Given the description of an element on the screen output the (x, y) to click on. 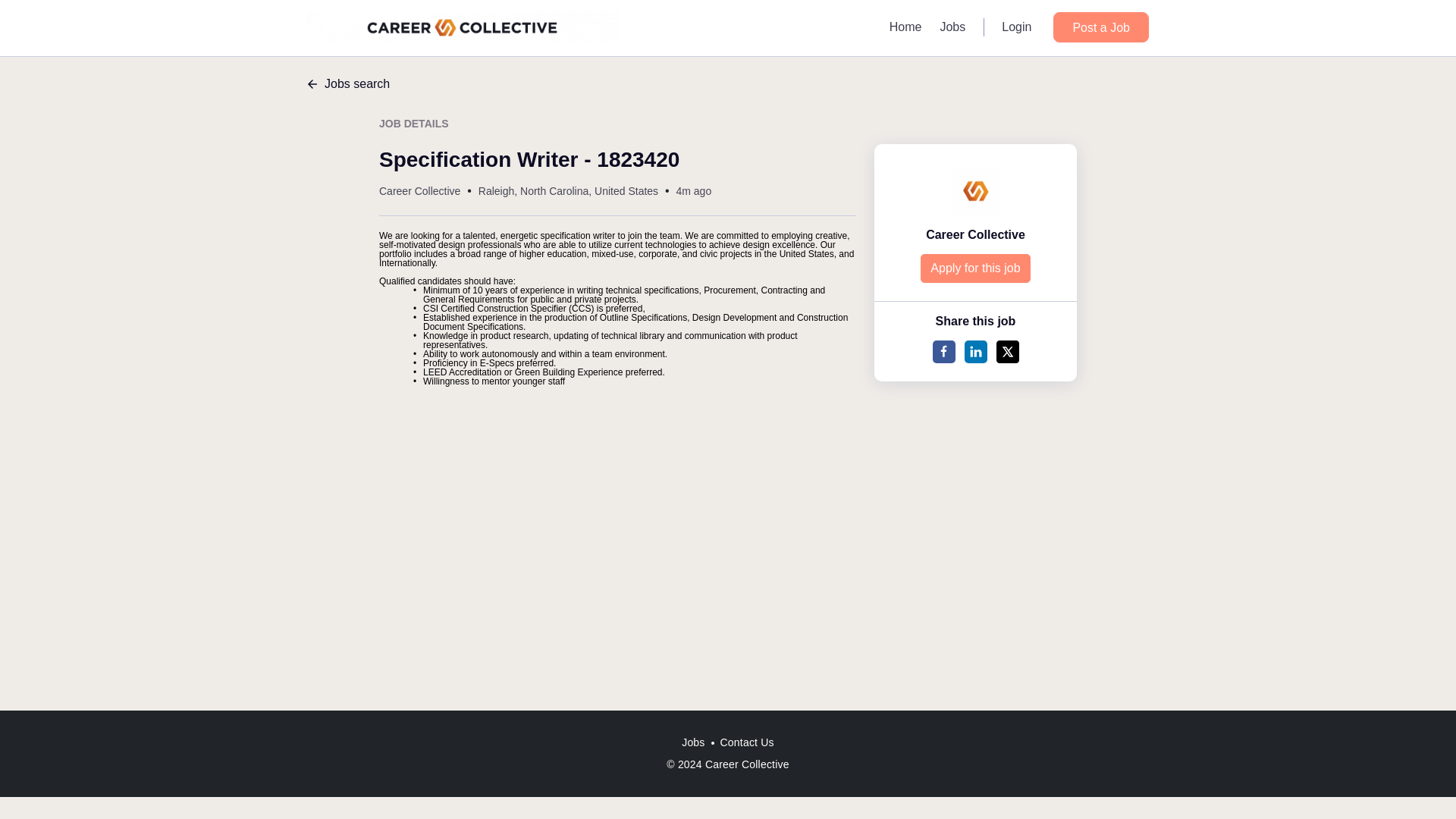
Share to Twitter (1007, 351)
Home (905, 26)
Share to Linkedin (975, 351)
Jobs (952, 26)
Login (1016, 26)
Career Collective (975, 234)
Raleigh, North Carolina, United States (568, 191)
Share to FB (944, 351)
Jobs (692, 742)
Post a Job (1100, 27)
Contact Us (747, 742)
Jobs search (727, 84)
Career Collective (419, 191)
Apply for this job (974, 267)
